Given the description of an element on the screen output the (x, y) to click on. 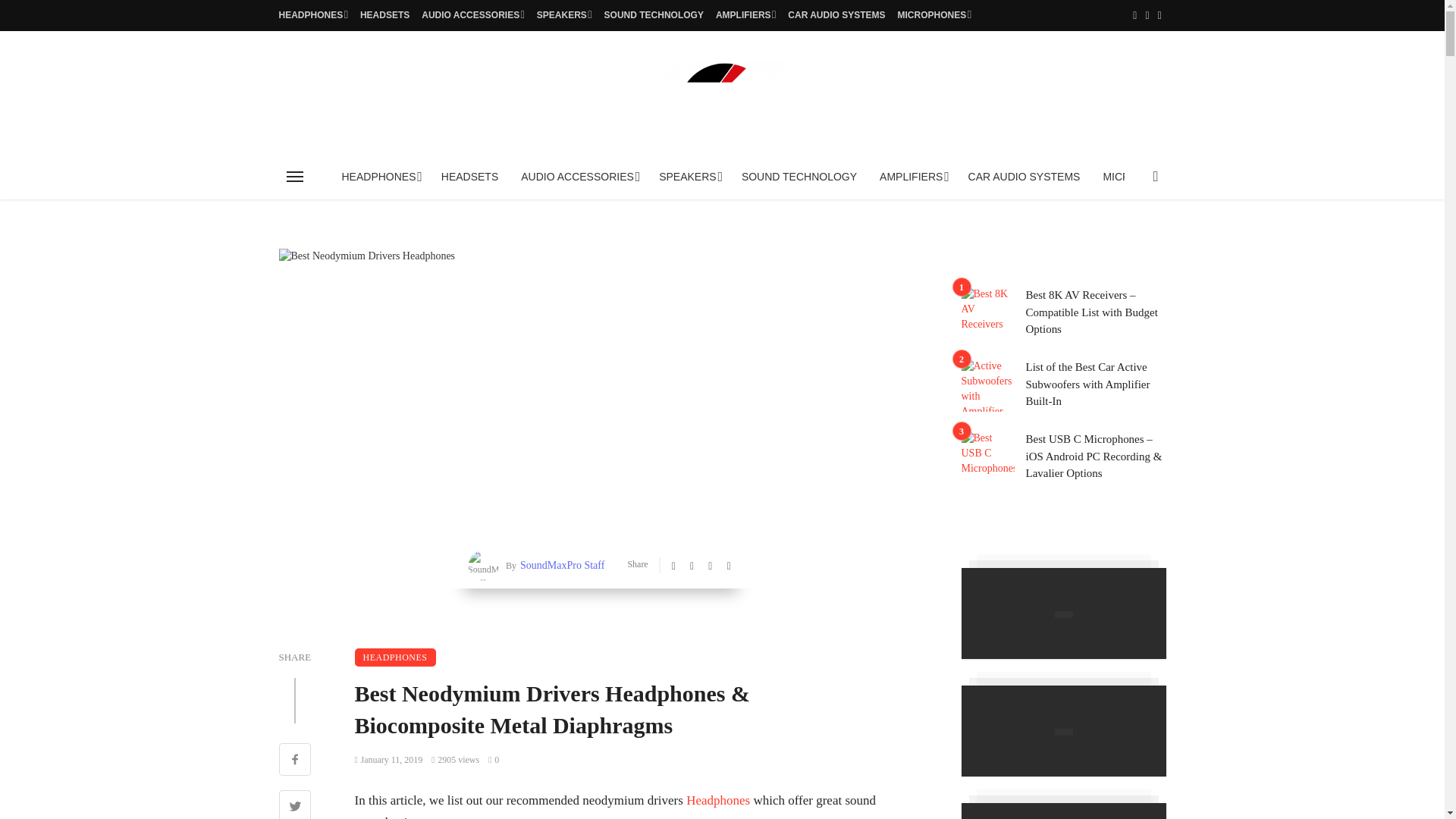
Posts by SoundMaxPro Staff (560, 565)
CAR AUDIO SYSTEMS (836, 14)
SPEAKERS (564, 14)
Share on Facebook (295, 760)
AMPLIFIERS (745, 14)
HEADPHONES (313, 14)
HEADSETS (383, 14)
AUDIO ACCESSORIES (472, 14)
SOUND TECHNOLOGY (654, 14)
HEADPHONES (379, 176)
MICROPHONES (933, 14)
